Given the description of an element on the screen output the (x, y) to click on. 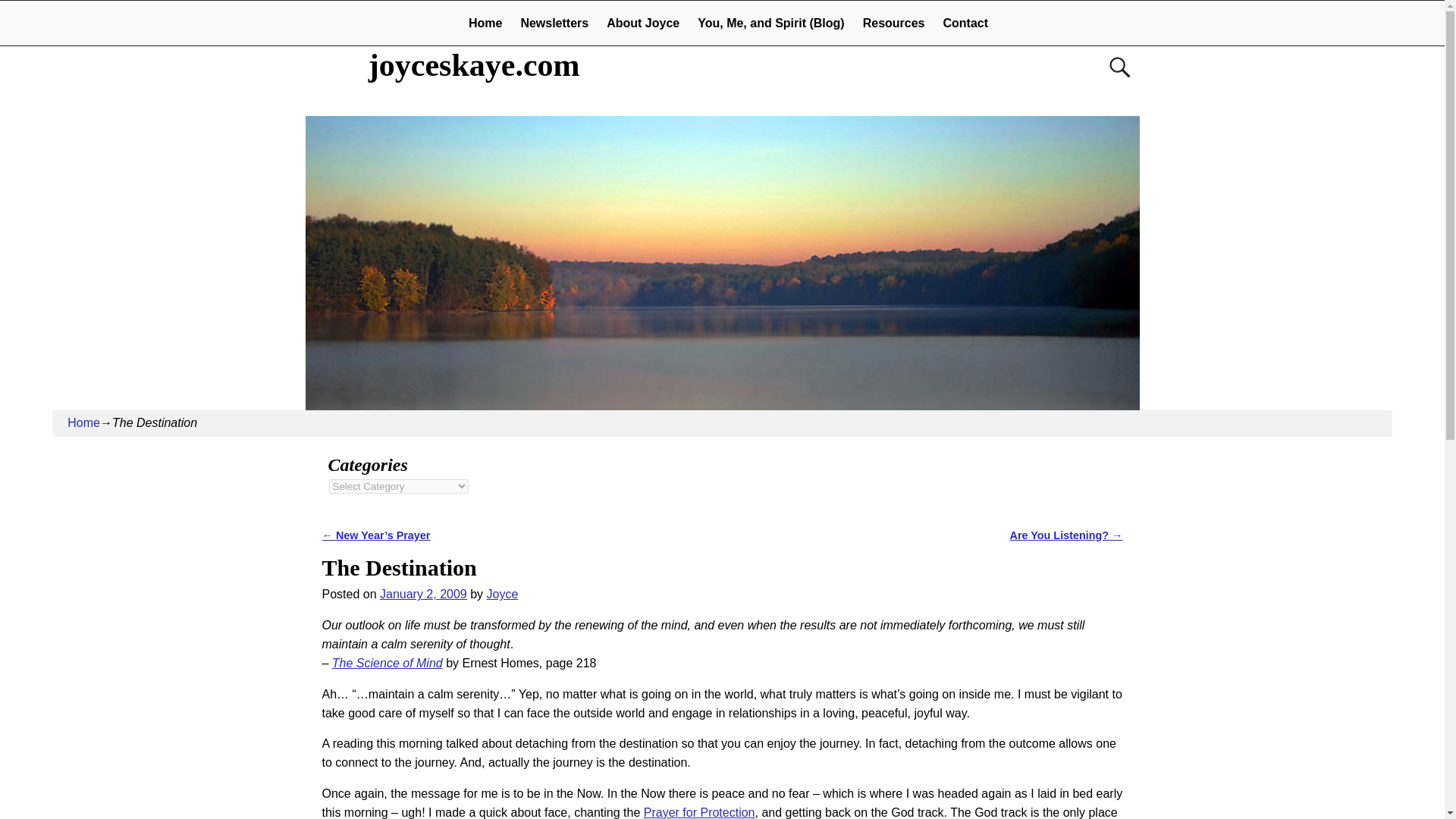
Home (485, 22)
About Joyce (642, 22)
January 2, 2009 (423, 594)
Contact (965, 22)
Home (485, 22)
Resources (893, 22)
Home (83, 422)
View all posts by Joyce (502, 594)
7:17 pm (423, 594)
Joyce (502, 594)
Prayer for Protection (699, 812)
The Science of Mind (386, 662)
joyceskaye.com (474, 64)
joyceskaye.com (474, 64)
Newsletters (553, 22)
